Given the description of an element on the screen output the (x, y) to click on. 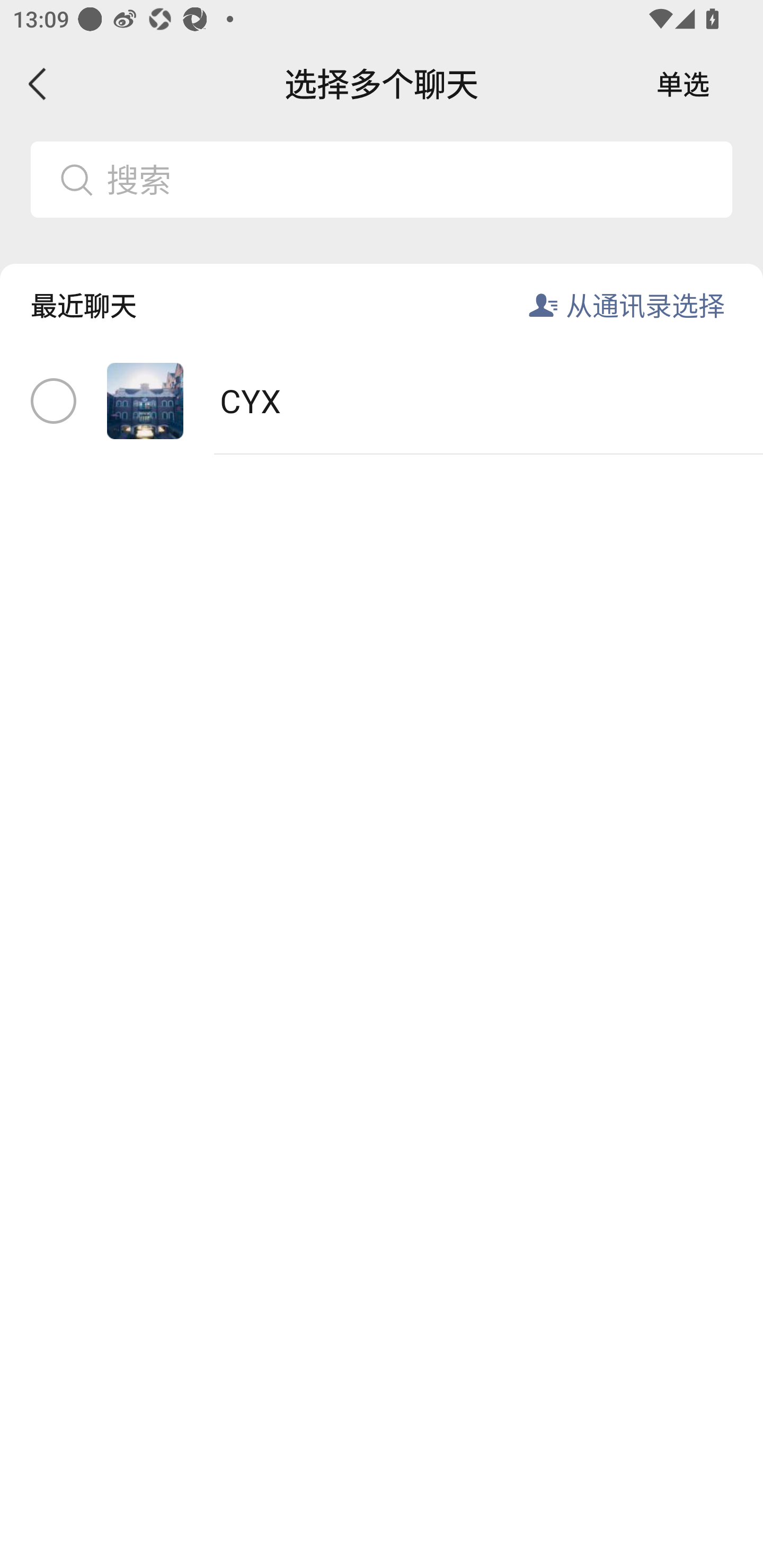
返回 (38, 83)
单选 (683, 83)
搜索 (381, 179)
搜索 (411, 179)
最近聊天 从通讯录选择 (381, 290)
从通讯录选择 (645, 304)
CYX (381, 401)
